Given the description of an element on the screen output the (x, y) to click on. 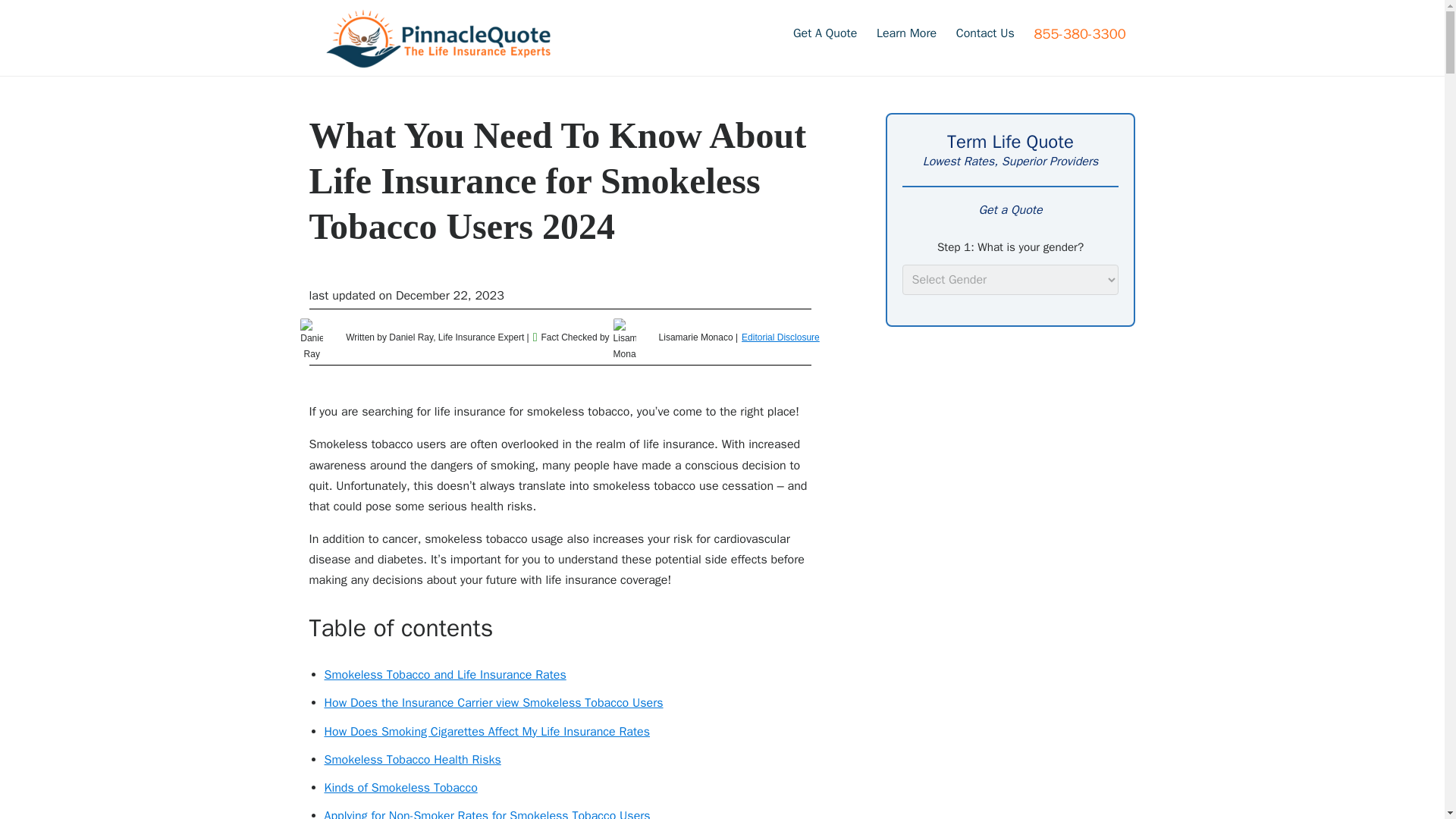
How Does the Insurance Carrier view Smokeless Tobacco Users (493, 702)
855-380-3300 (1080, 33)
Editorial Disclosure (780, 337)
Kinds of Smokeless Tobacco (400, 787)
Smokeless Tobacco and Life Insurance Rates (445, 674)
Applying for Non-Smoker Rates for Smokeless Tobacco Users (487, 813)
Get A Quote (824, 33)
Learn More (906, 33)
Smokeless Tobacco Health Risks (412, 759)
How Does Smoking Cigarettes Affect My Life Insurance Rates (487, 731)
Contact Us (985, 33)
